Given the description of an element on the screen output the (x, y) to click on. 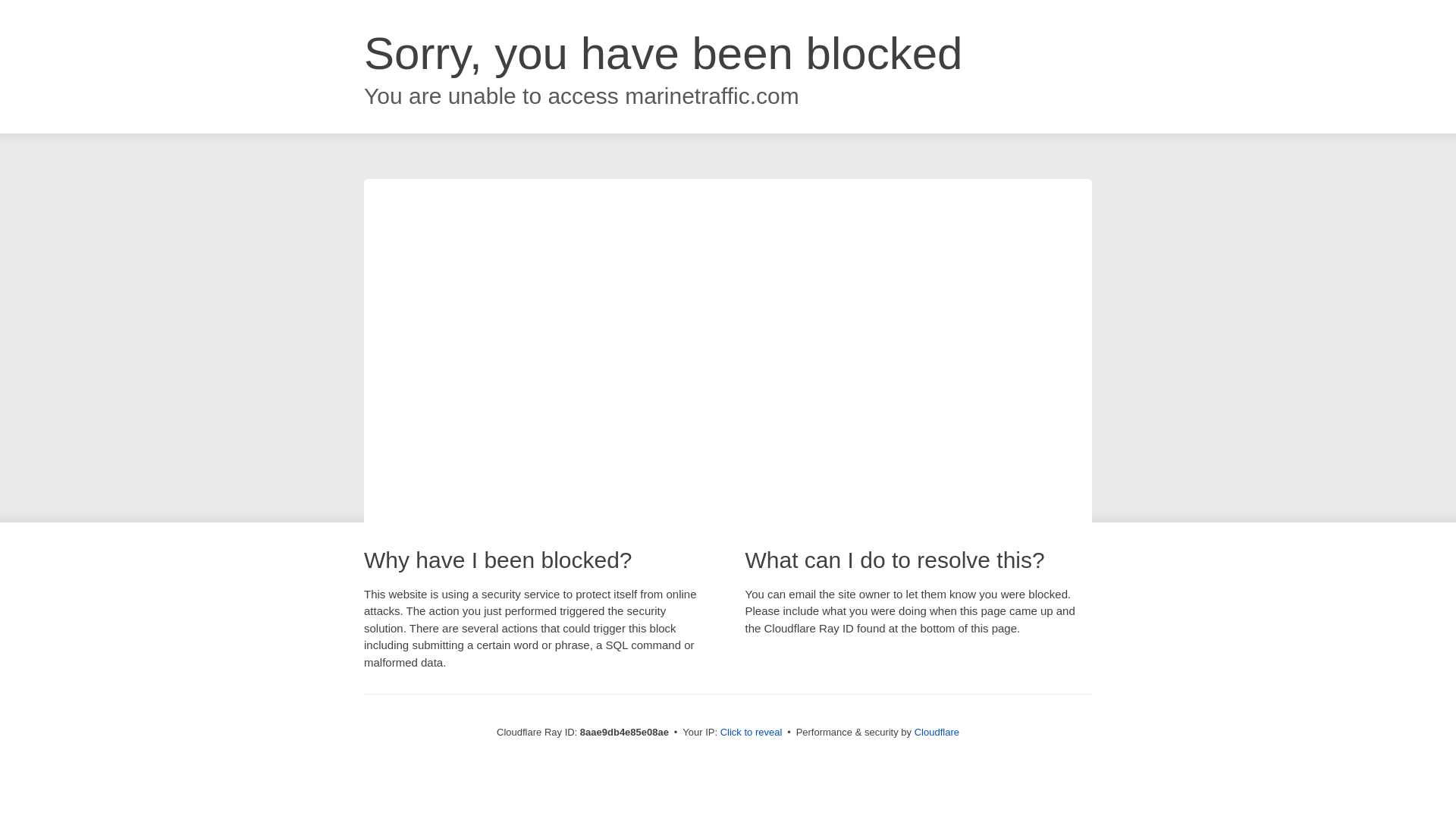
Click to reveal (751, 732)
Cloudflare (936, 731)
